Given the description of an element on the screen output the (x, y) to click on. 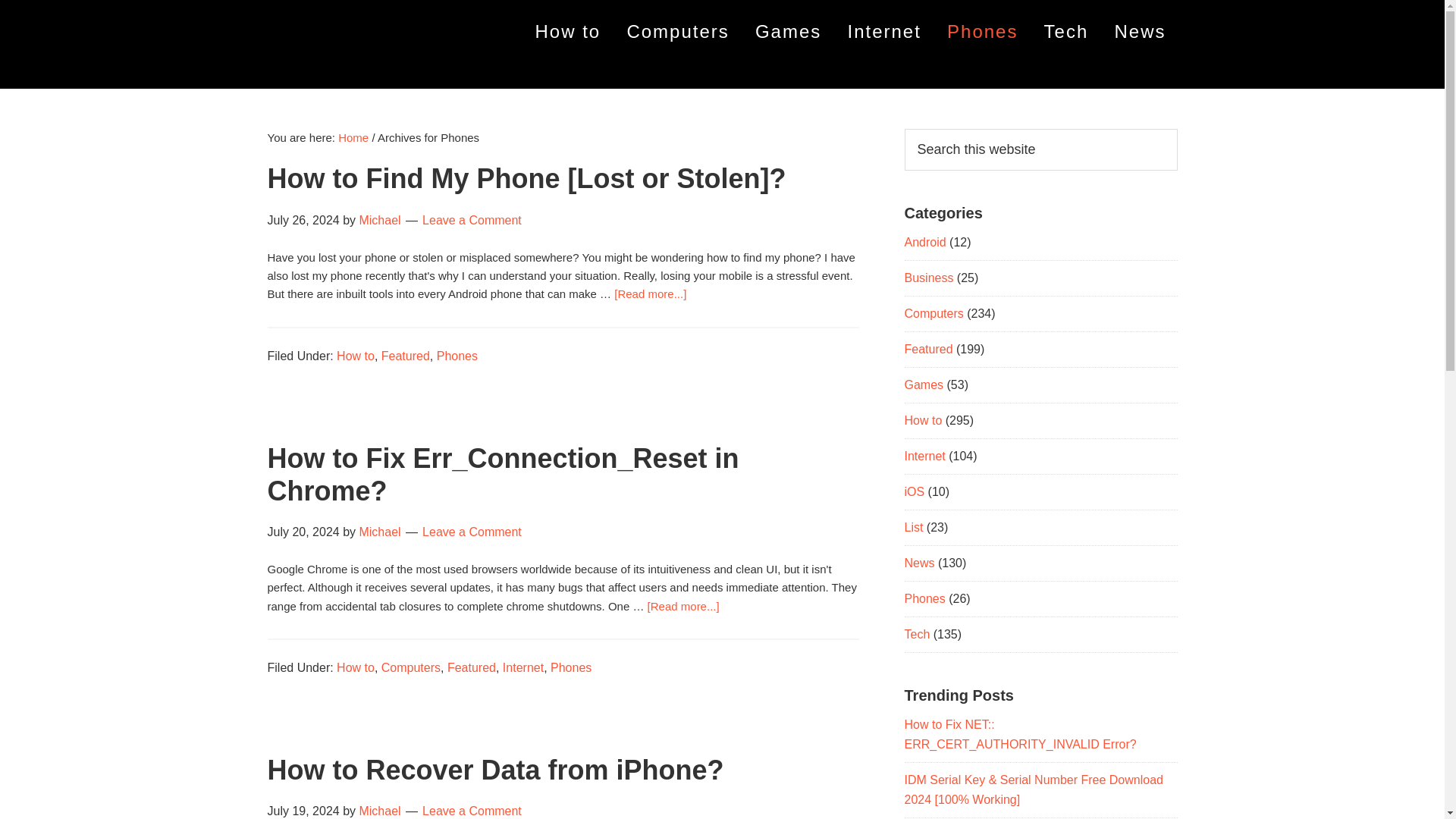
Michael (379, 810)
Leave a Comment (471, 219)
Internet (522, 667)
Phones (570, 667)
Games (788, 31)
Featured (405, 355)
Computers (676, 31)
Michael (379, 531)
Internet (883, 31)
How to (568, 31)
Phones (456, 355)
Phones (982, 31)
Home (352, 137)
